Given the description of an element on the screen output the (x, y) to click on. 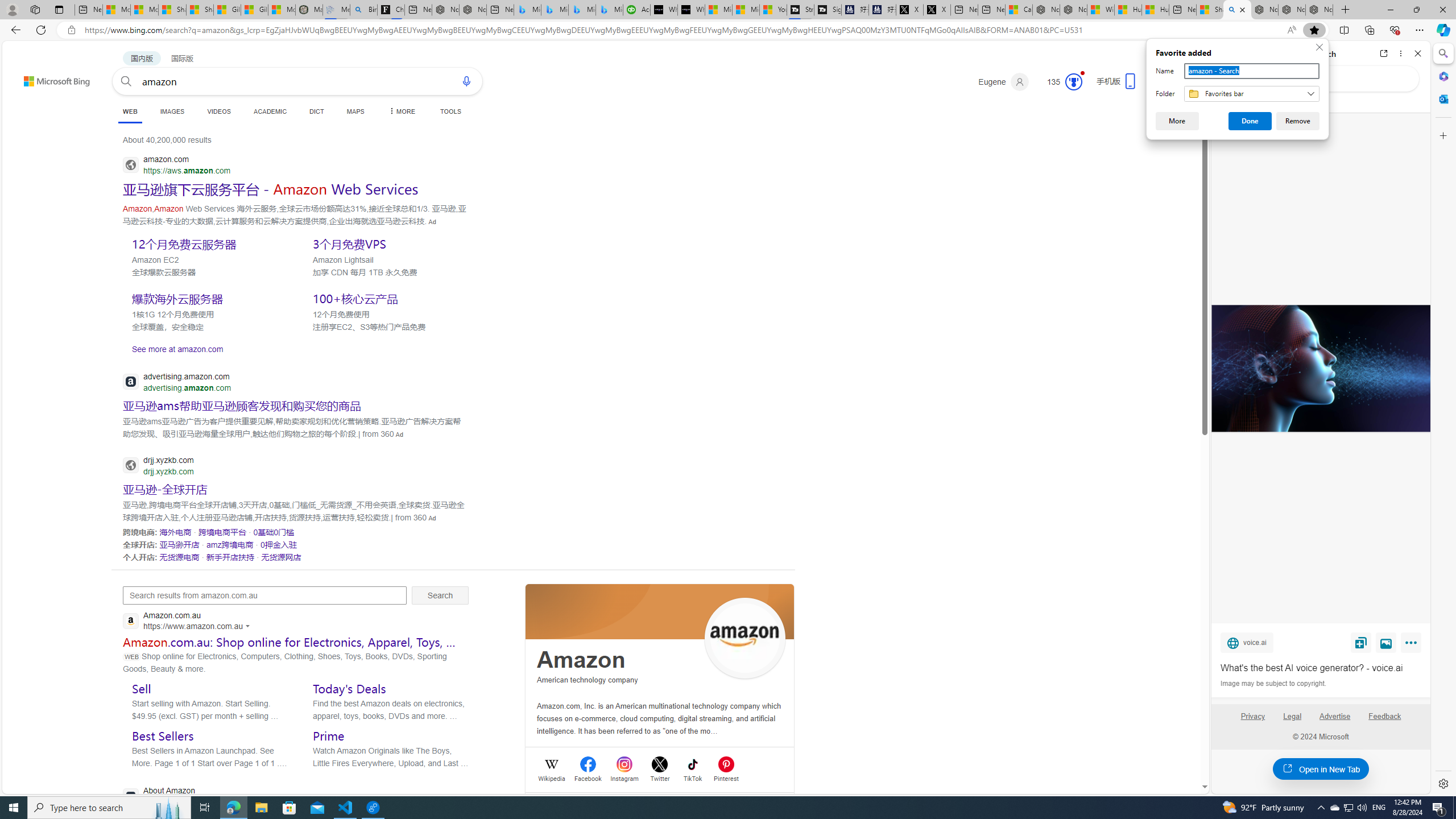
Show desktop (1454, 807)
Twitter (660, 777)
VIDEOS (218, 111)
SERP,5558 (241, 404)
TOOLS (450, 111)
Amazon.com.au (189, 621)
Microsoft Bing Travel - Stays in Bangkok, Bangkok, Thailand (554, 9)
